Given the description of an element on the screen output the (x, y) to click on. 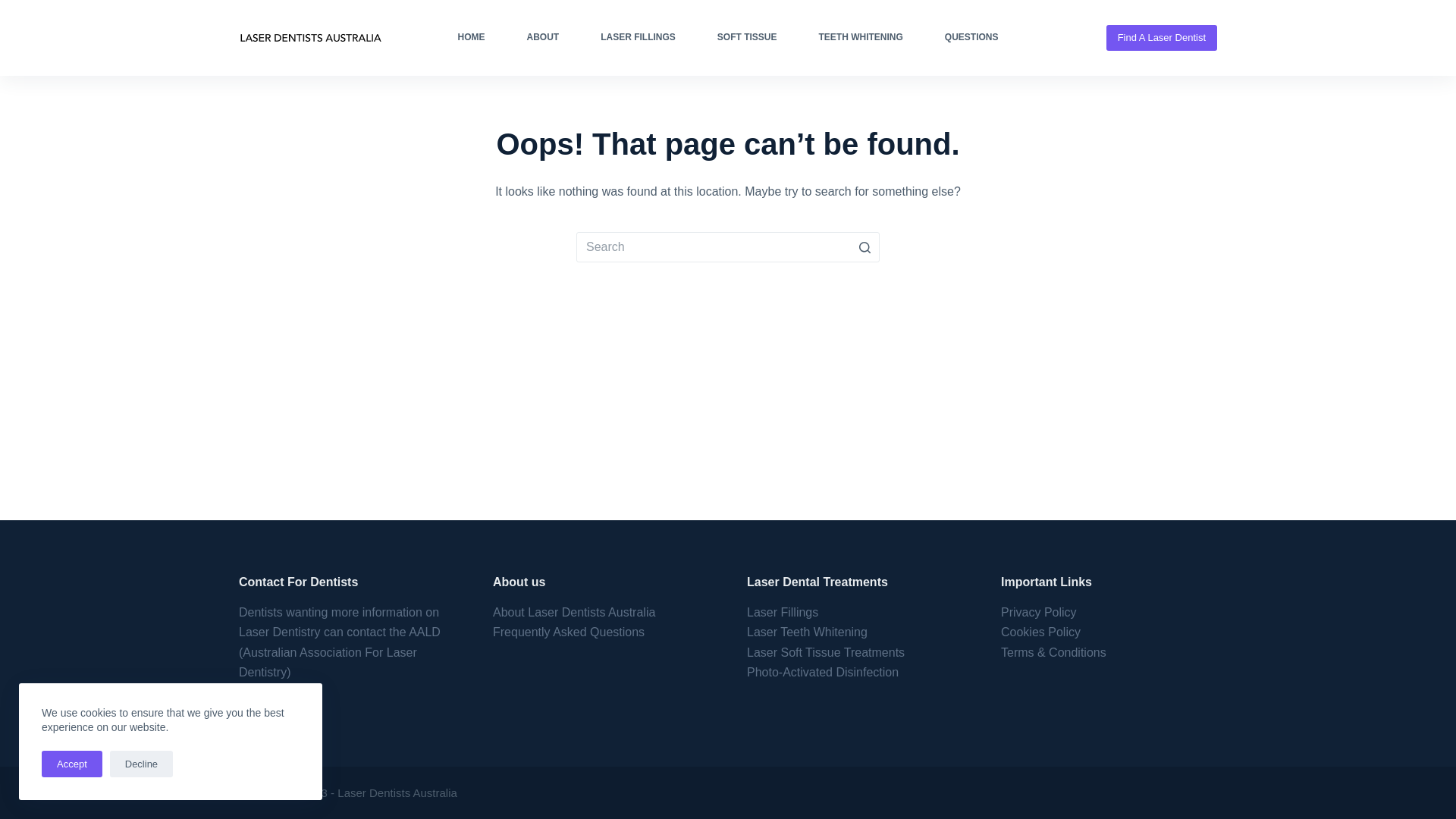
Search for... Element type: hover (727, 247)
QUESTIONS Element type: text (971, 37)
Cookies Policy Element type: text (1040, 631)
ABOUT Element type: text (542, 37)
Skip to content Element type: text (15, 7)
Find A Laser Dentist Element type: text (1161, 37)
Laser Teeth Whitening Element type: text (806, 631)
Frequently Asked Questions Element type: text (568, 631)
HOME Element type: text (470, 37)
Laser Fillings Element type: text (782, 611)
TEETH WHITENING Element type: text (860, 37)
Laser Soft Tissue Treatments Element type: text (825, 652)
Terms & Conditions Element type: text (1053, 652)
Privacy Policy Element type: text (1038, 611)
Decline Element type: text (140, 763)
SOFT TISSUE Element type: text (746, 37)
Accept Element type: text (71, 763)
AALD (Australian Association For Laser Dentistry) Element type: text (339, 651)
About Laser Dentists Australia Element type: text (573, 611)
Photo-Activated Disinfection Element type: text (822, 671)
LASER FILLINGS Element type: text (638, 37)
